Given the description of an element on the screen output the (x, y) to click on. 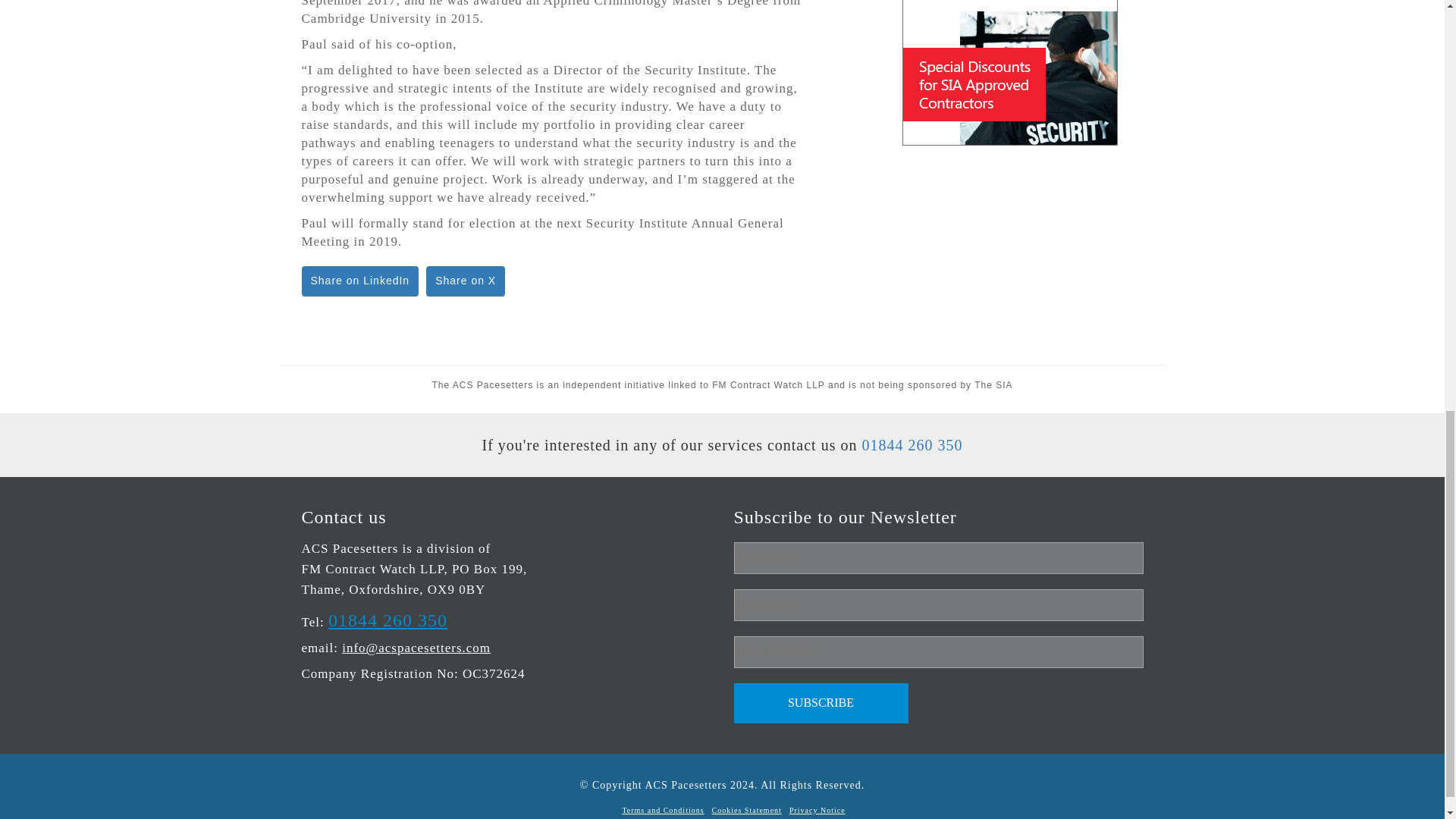
01844 260 350 (387, 619)
Subscribe (820, 703)
01844 260 350 (911, 444)
Share on LinkedIn (360, 281)
Subscribe (820, 703)
Share on X (465, 281)
